Given the description of an element on the screen output the (x, y) to click on. 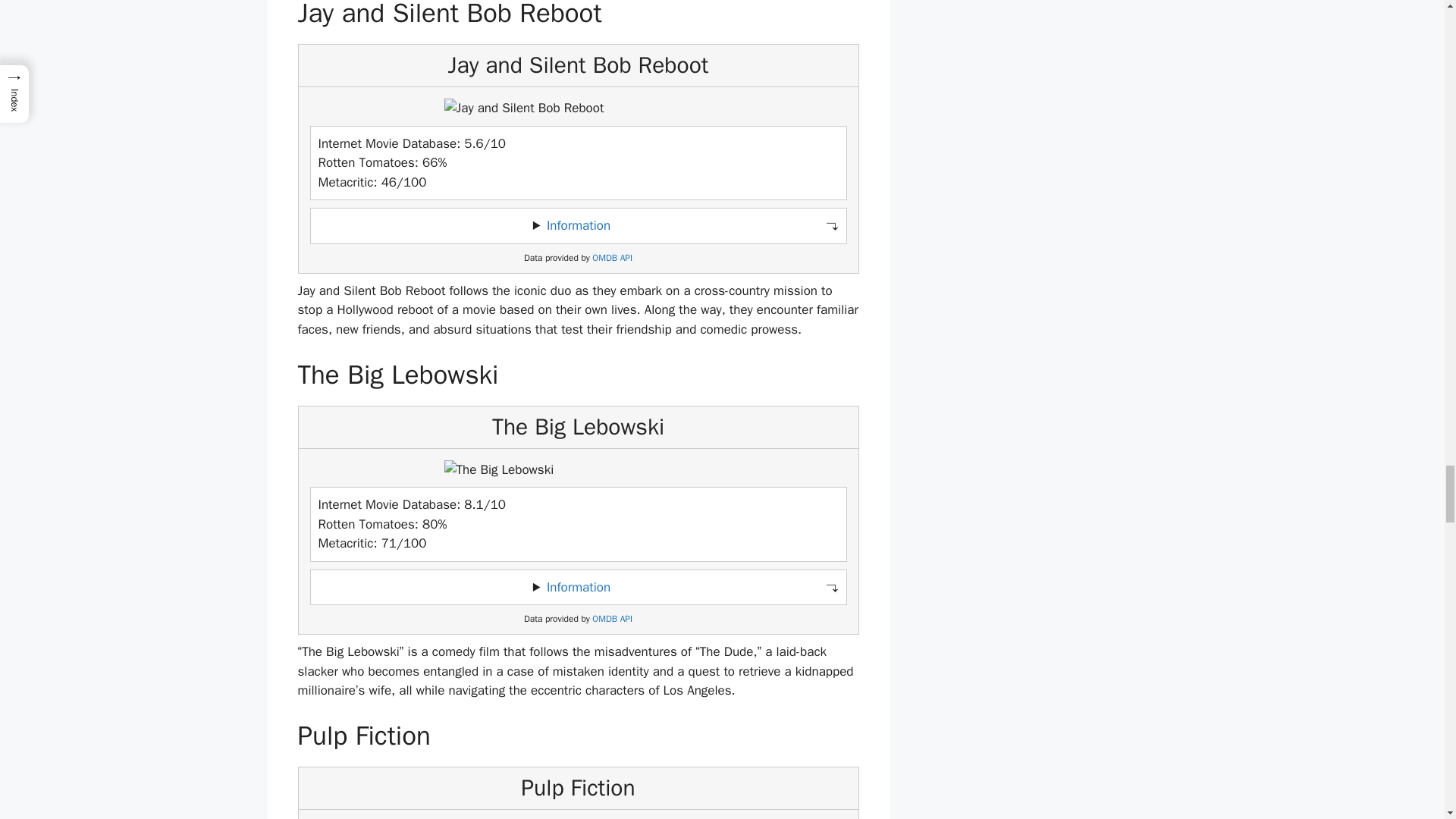
Information (578, 225)
OMDB API (611, 257)
OMDB API (611, 618)
Information (578, 587)
